Given the description of an element on the screen output the (x, y) to click on. 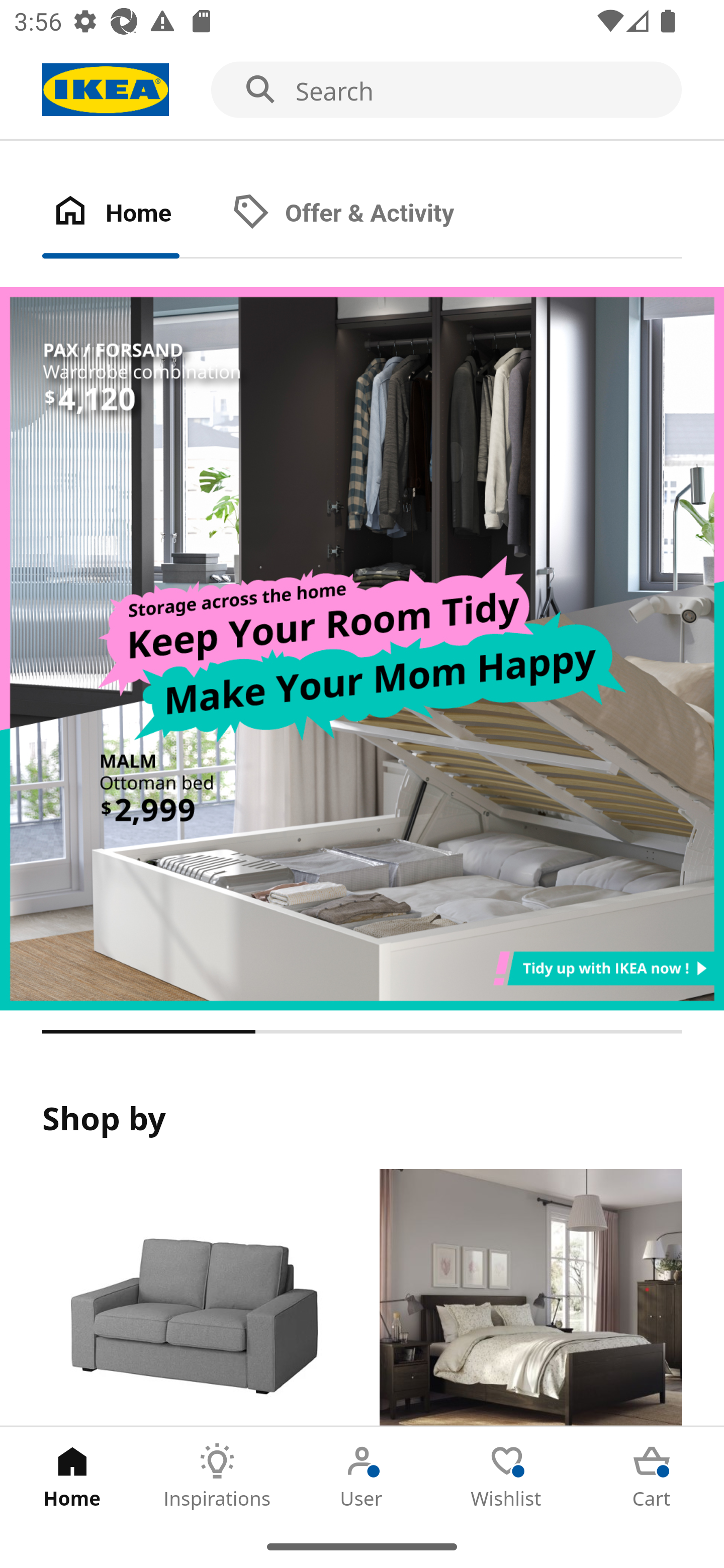
Search (361, 90)
Home
Tab 1 of 2 (131, 213)
Offer & Activity
Tab 2 of 2 (363, 213)
Products (192, 1297)
Rooms (530, 1297)
Home
Tab 1 of 5 (72, 1476)
Inspirations
Tab 2 of 5 (216, 1476)
User
Tab 3 of 5 (361, 1476)
Wishlist
Tab 4 of 5 (506, 1476)
Cart
Tab 5 of 5 (651, 1476)
